Given the description of an element on the screen output the (x, y) to click on. 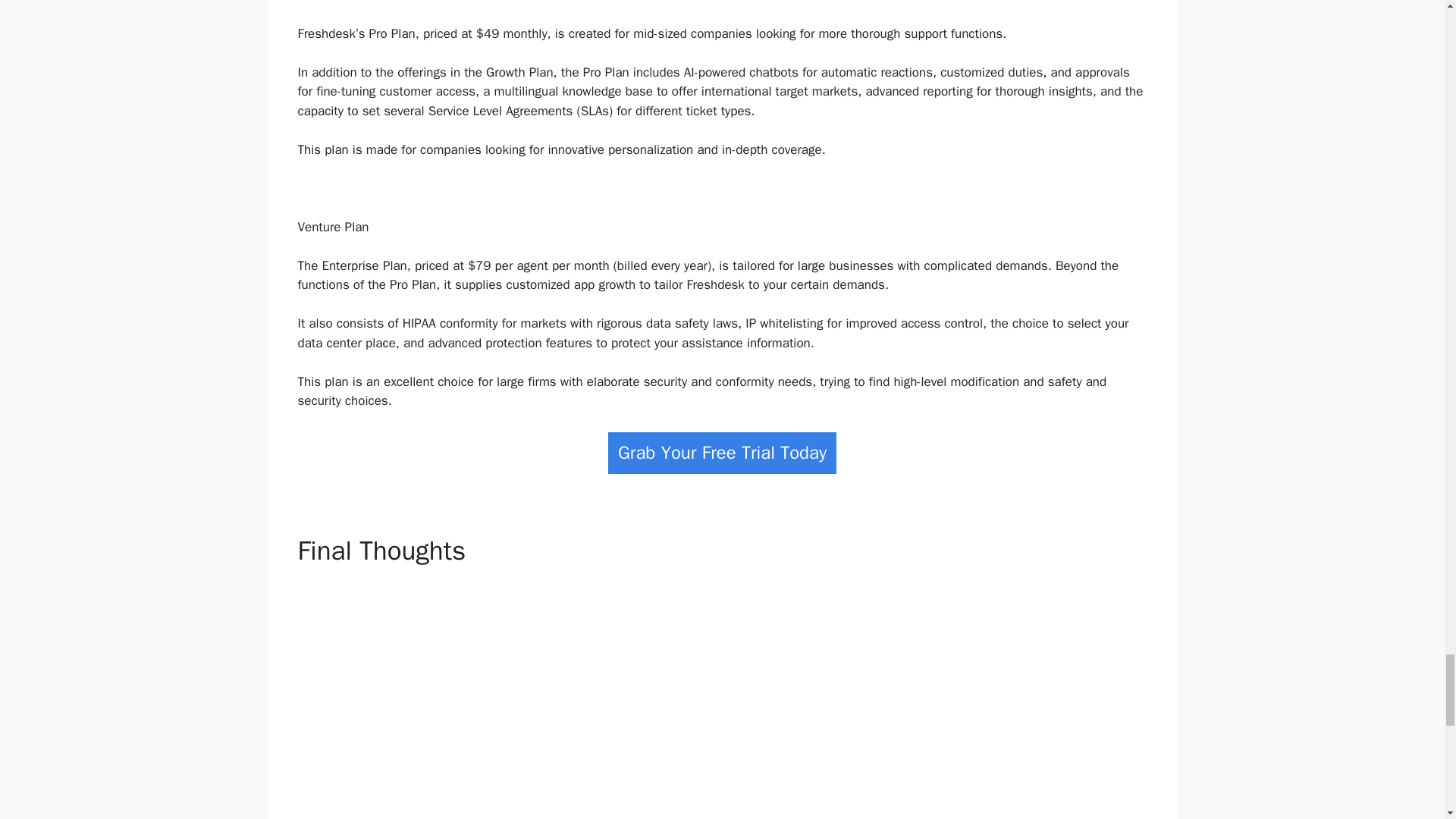
Grab Your Free Trial Today (721, 453)
